Given the description of an element on the screen output the (x, y) to click on. 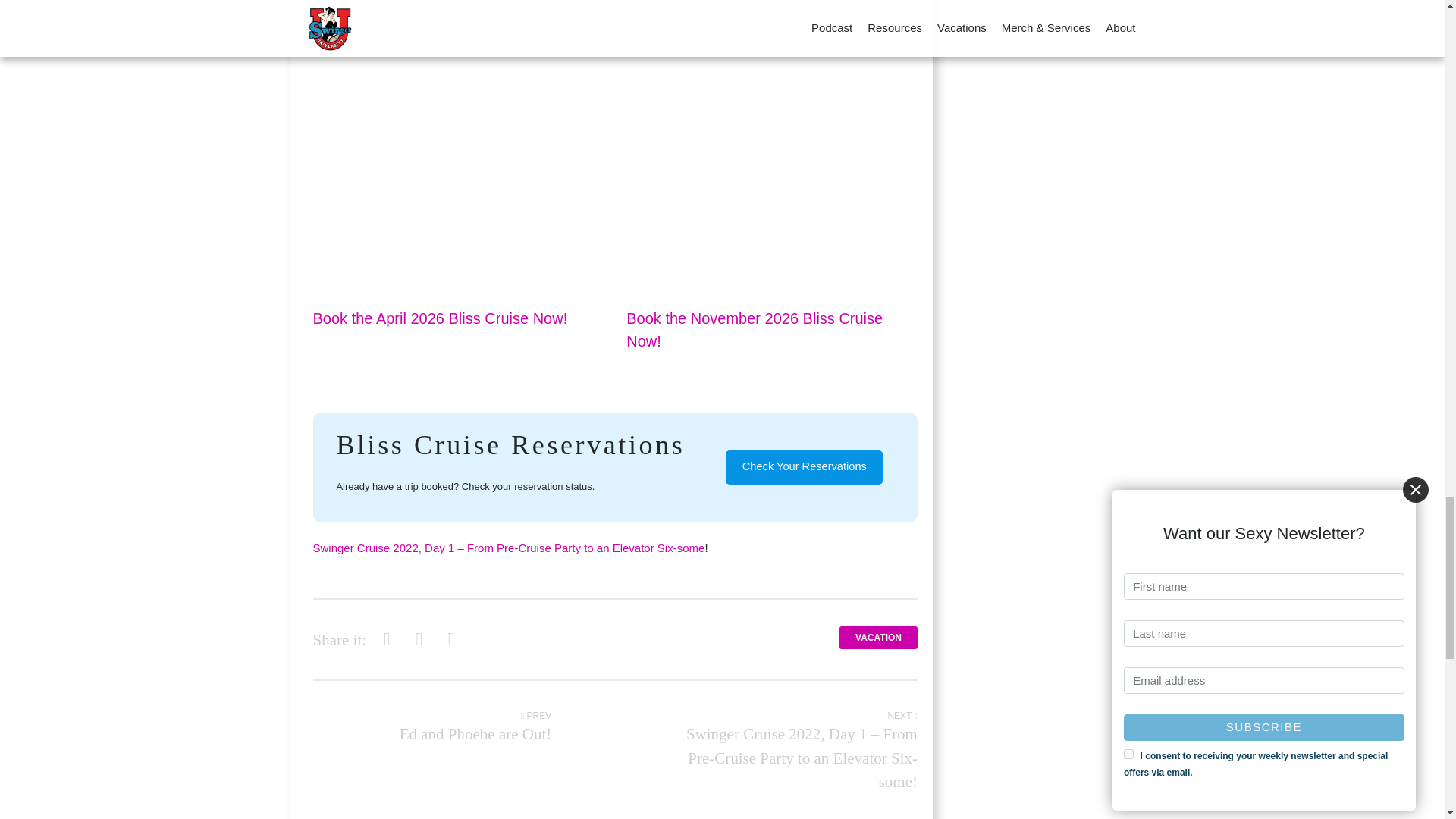
Share via Facebook (386, 639)
Share via Twitter (418, 639)
Share via Pinterest (451, 639)
